Given the description of an element on the screen output the (x, y) to click on. 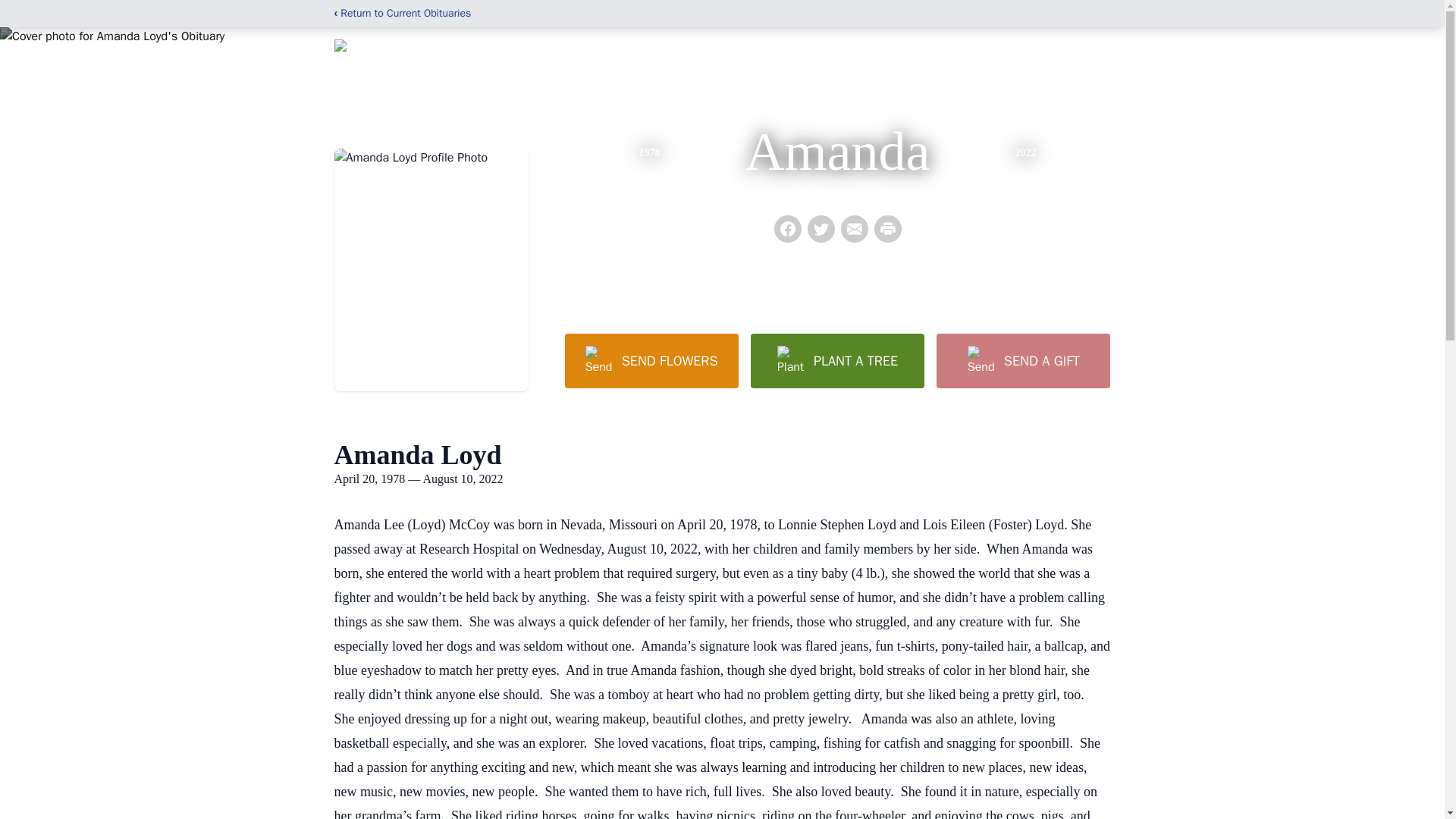
PLANT A TREE (837, 360)
SEND A GIFT (1022, 360)
SEND FLOWERS (651, 360)
